Given the description of an element on the screen output the (x, y) to click on. 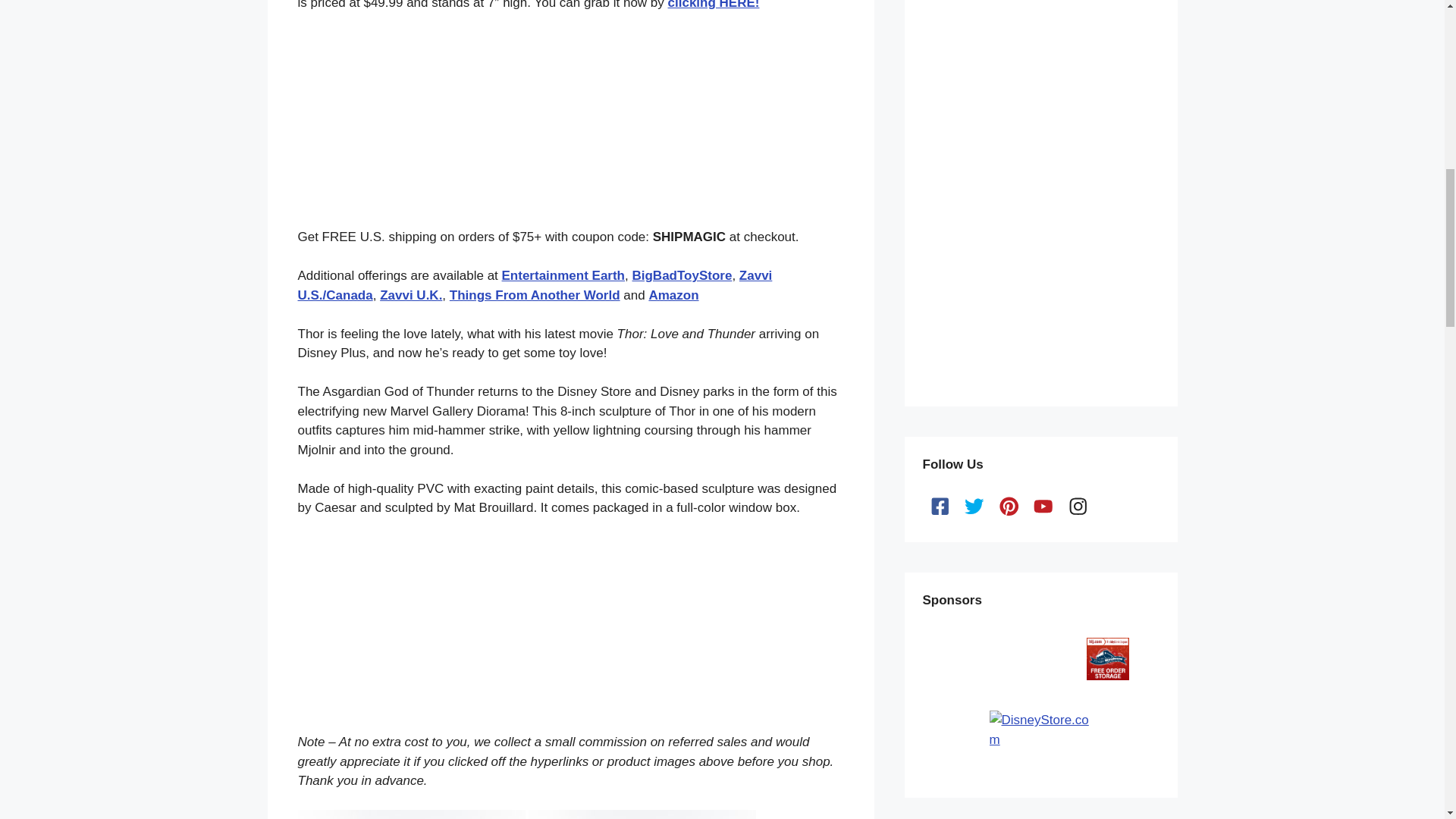
Zavvi U.K. (411, 295)
BigBadToyStore (681, 275)
Things From Another World (534, 295)
clicking HERE! (714, 4)
Entertainment Earth (563, 275)
Amazon (672, 295)
